Given the description of an element on the screen output the (x, y) to click on. 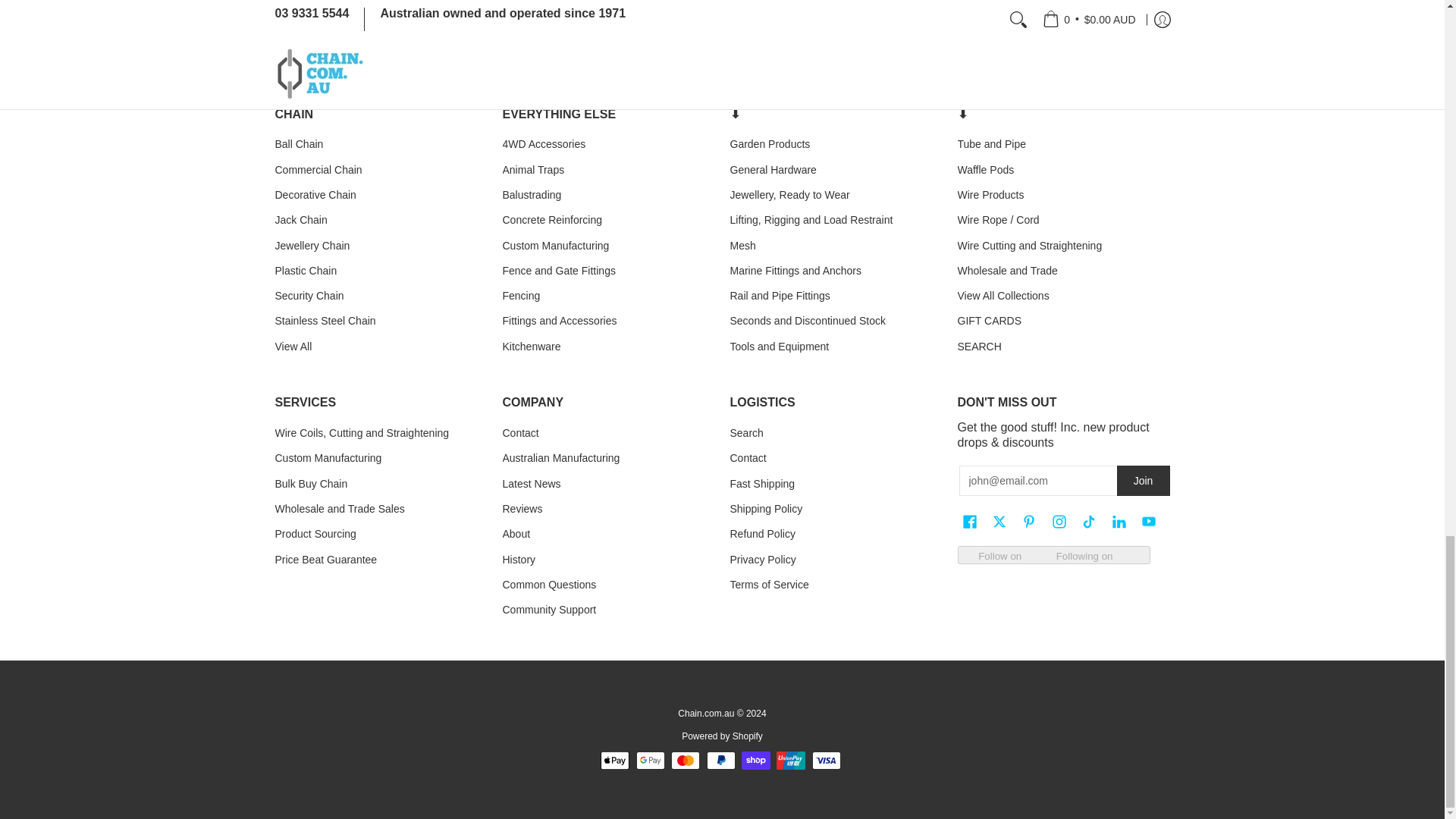
Google Pay (650, 760)
Union Pay (790, 760)
Mastercard (685, 760)
PayPal (720, 760)
Shop Pay (755, 760)
Visa (826, 760)
Apple Pay (613, 760)
